Given the description of an element on the screen output the (x, y) to click on. 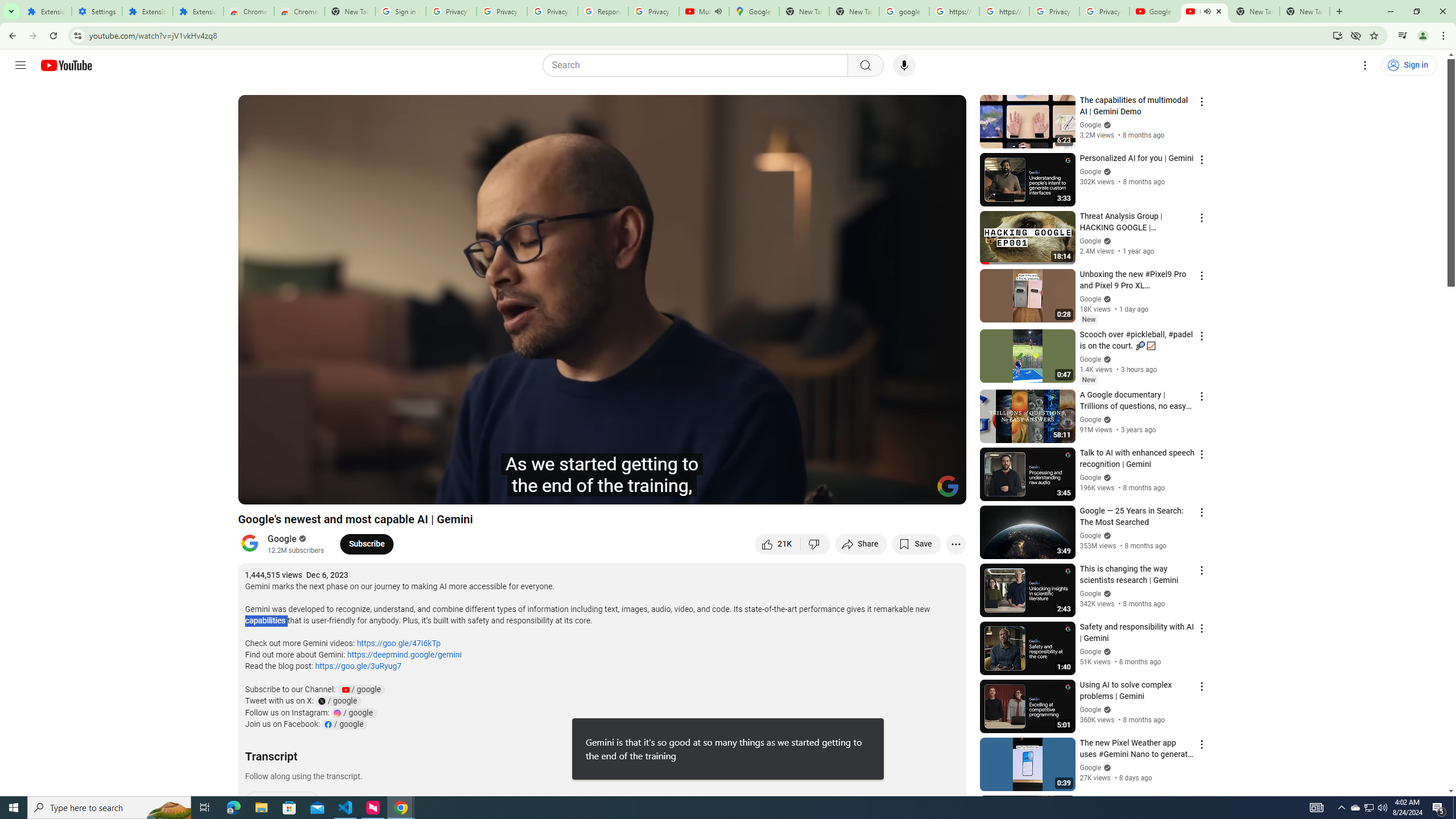
Settings (97, 11)
New (1087, 379)
Save to playlist (915, 543)
Sign in - Google Accounts (399, 11)
Chrome Web Store - Themes (299, 11)
YouTube Home (66, 65)
Guide (20, 65)
Theater mode (t) (917, 490)
